Given the description of an element on the screen output the (x, y) to click on. 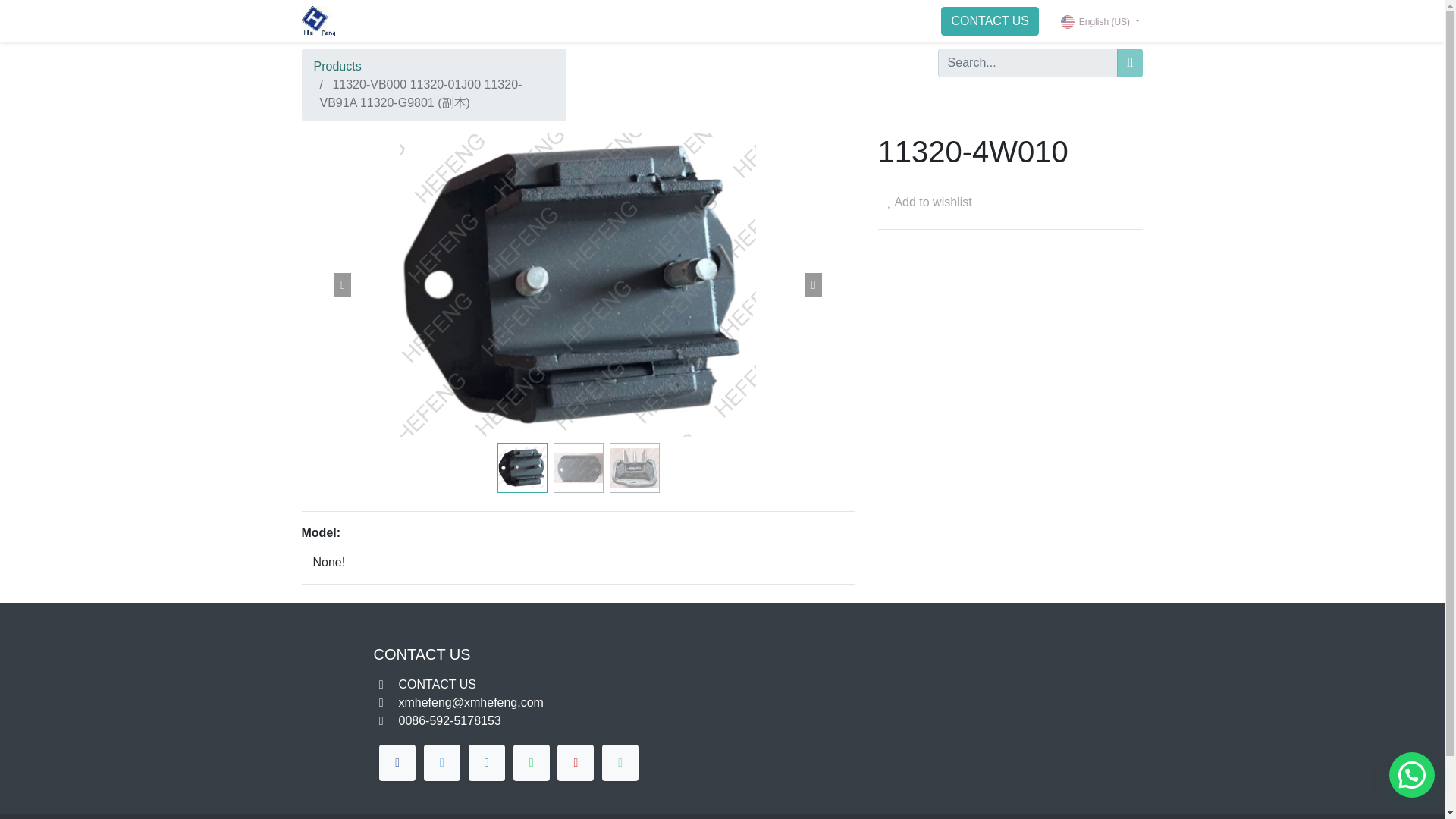
CONTACT US (989, 21)
Search (1129, 62)
Products (337, 65)
Add to wishlist (929, 202)
XIAMEN HEFENG INTERNATIONAL CO.,LTD (318, 20)
